Given the description of an element on the screen output the (x, y) to click on. 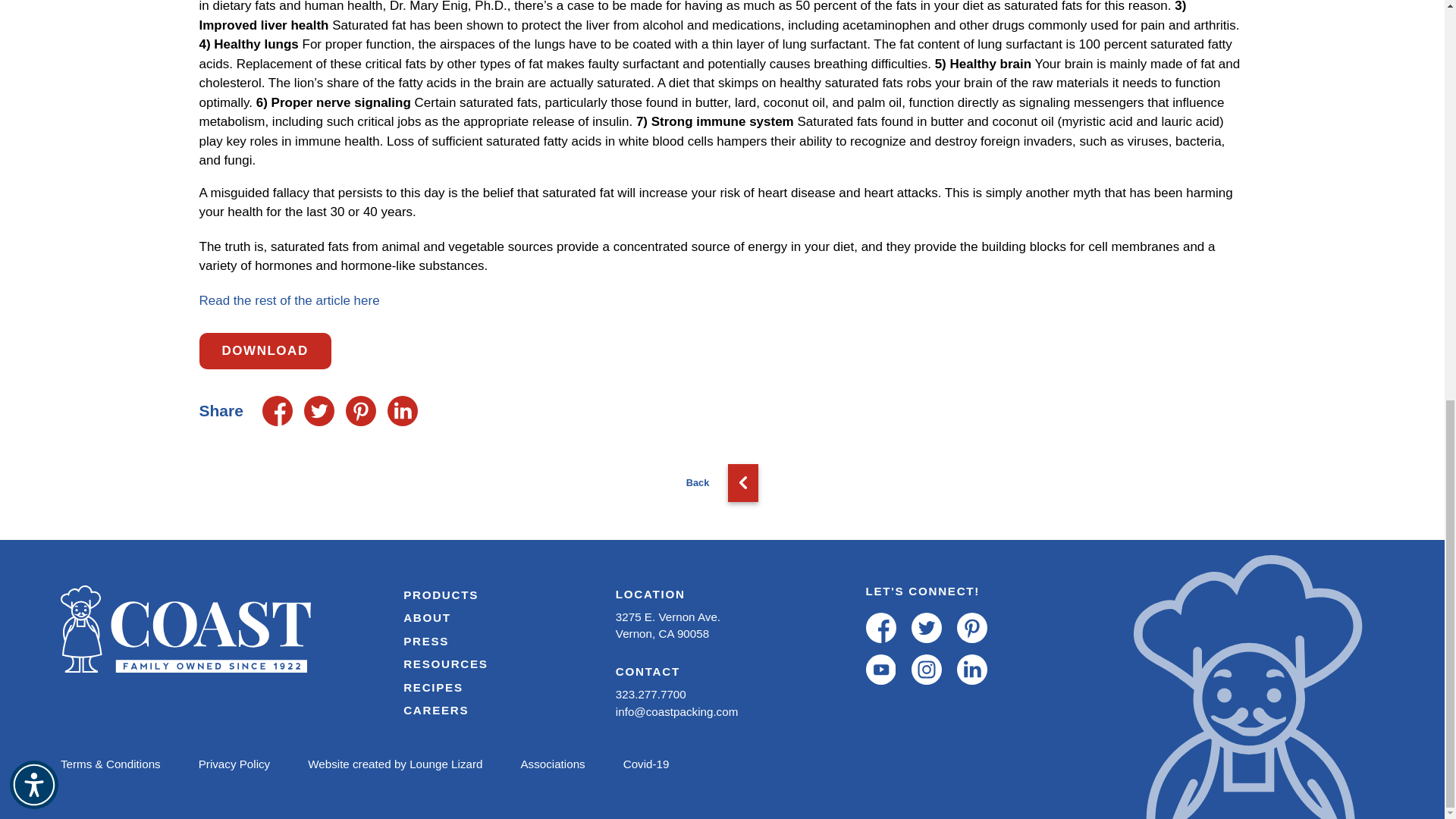
Read the rest of the article here (288, 300)
DOWNLOAD (264, 350)
Accessibility Menu (34, 13)
